Given the description of an element on the screen output the (x, y) to click on. 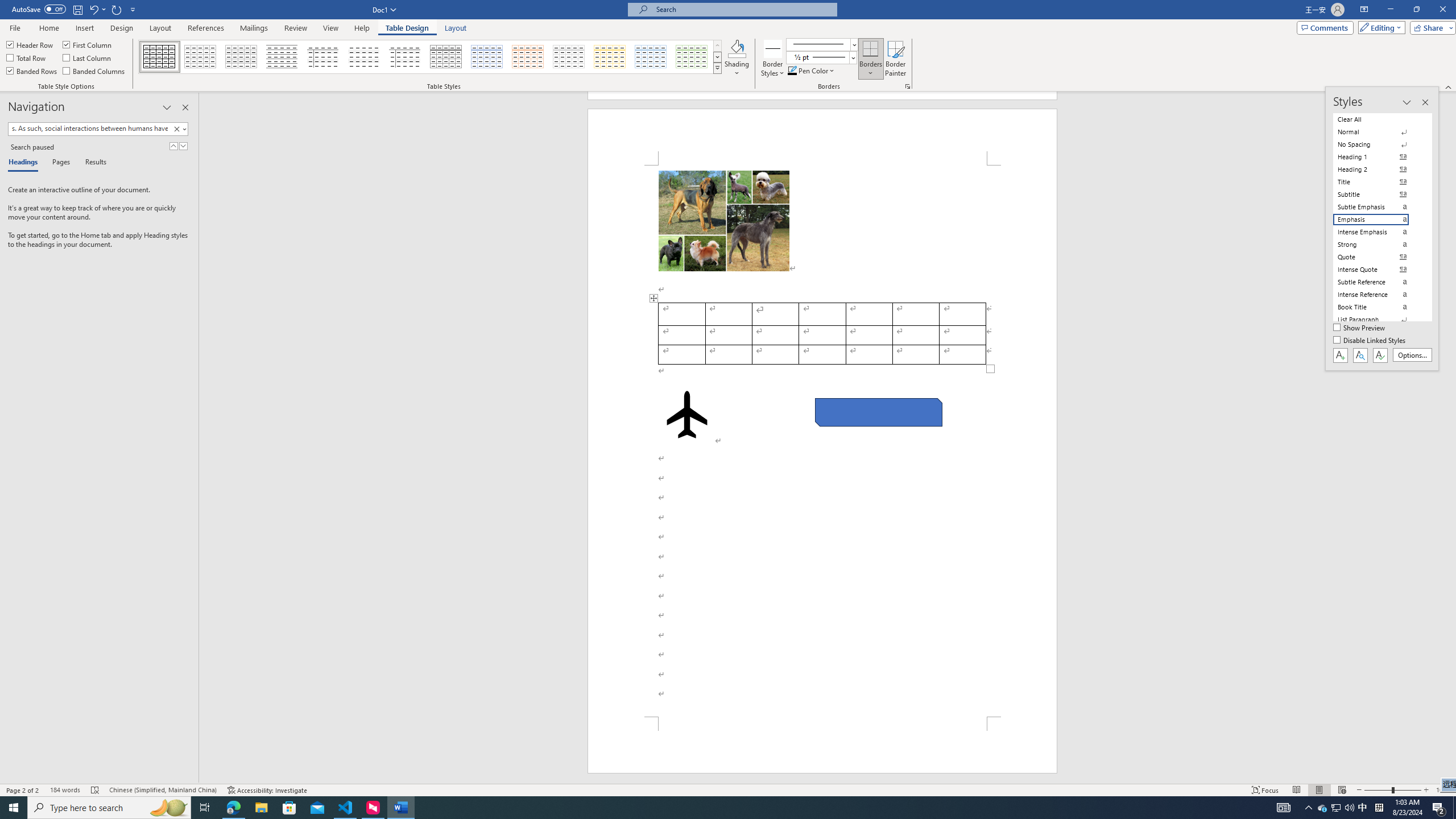
AutomationID: TableStylesGalleryWord (430, 56)
Undo Style (96, 9)
Banded Rows (32, 69)
Grid Table 1 Light - Accent 5 (650, 56)
Pen Color RGB(0, 0, 0) (791, 69)
